Given the description of an element on the screen output the (x, y) to click on. 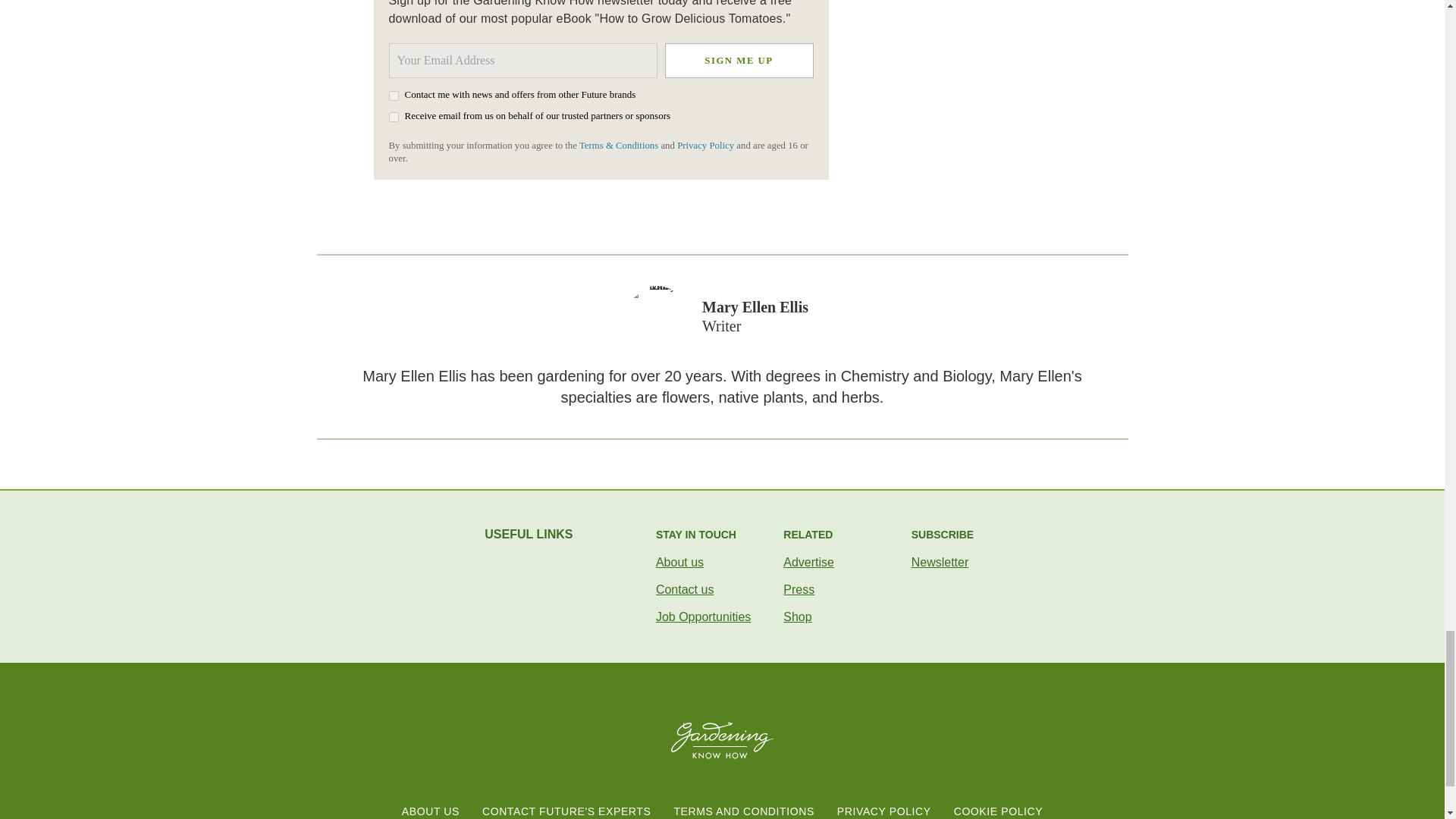
on (392, 117)
on (392, 95)
Sign me up (737, 60)
